Given the description of an element on the screen output the (x, y) to click on. 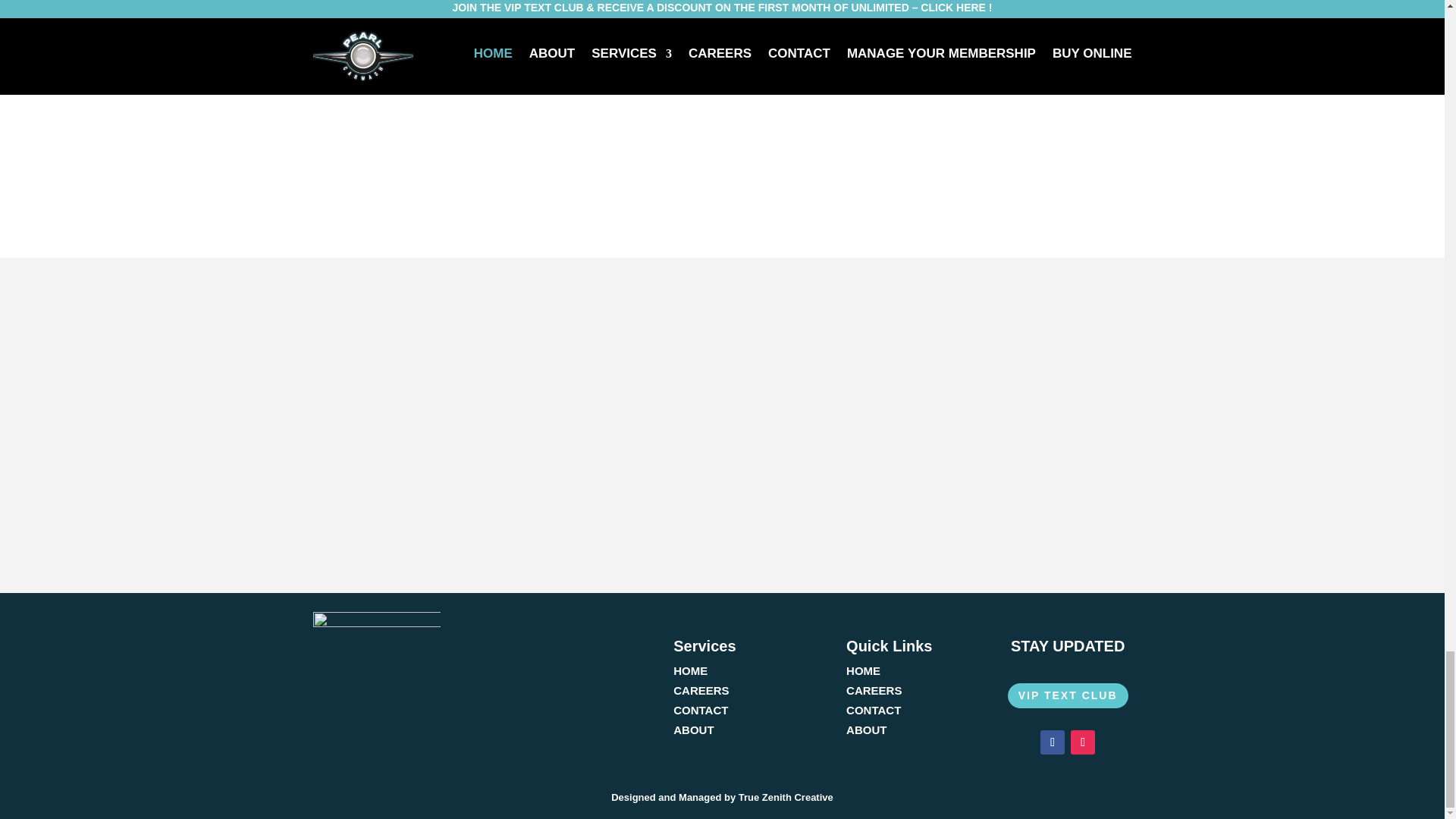
HOME (862, 670)
CAREERS (700, 689)
pearl-logo-official-dark-background (376, 660)
ABOUT (692, 729)
CONTACT (700, 709)
CAREERS (873, 689)
Follow on Facebook (1052, 742)
HOME (689, 670)
Follow on Instagram (1082, 742)
